Given the description of an element on the screen output the (x, y) to click on. 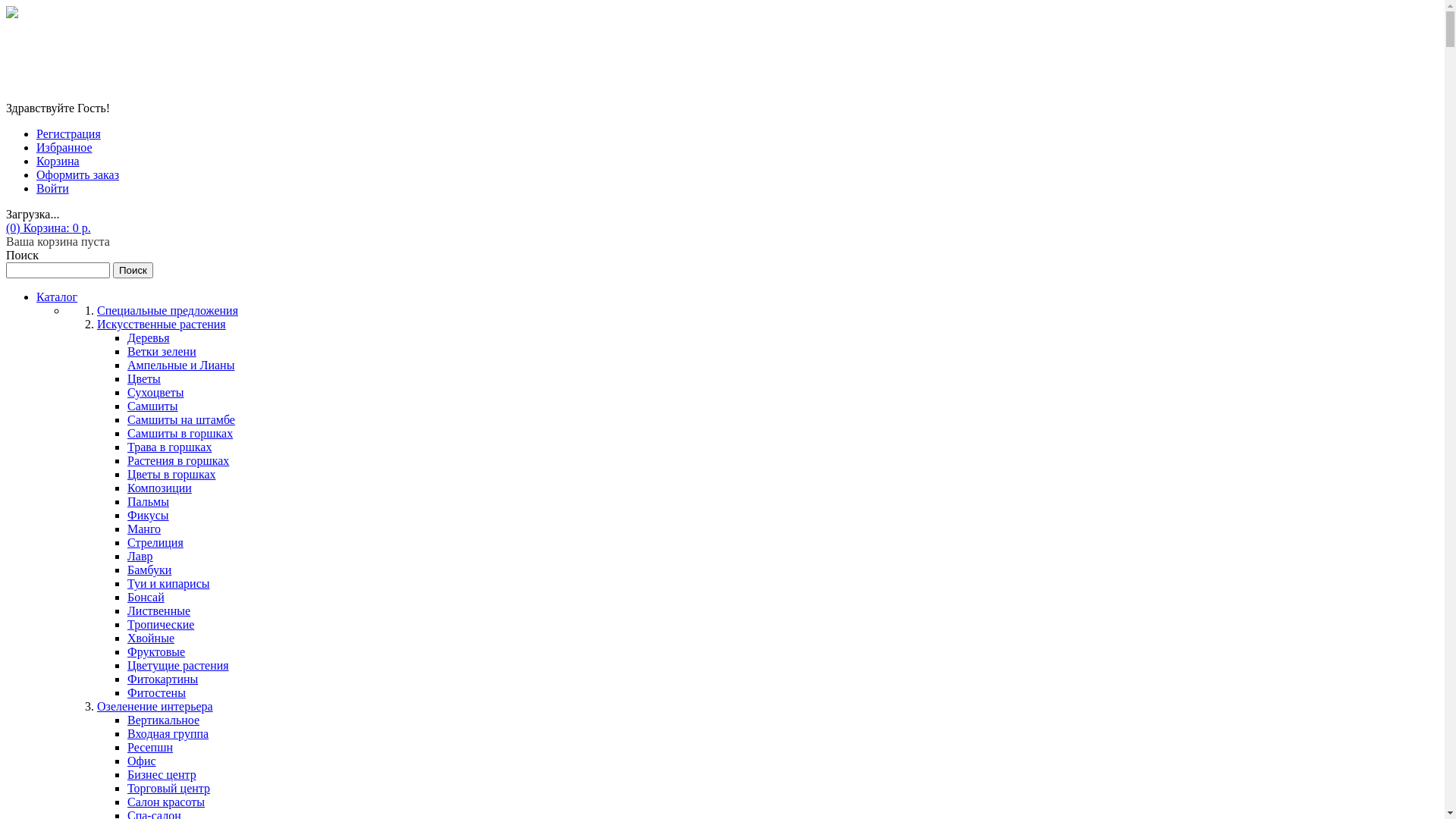
+375 [33] 353-39-12 Element type: text (162, 27)
+375 [44] 577-39-12 Element type: text (162, 40)
